Given the description of an element on the screen output the (x, y) to click on. 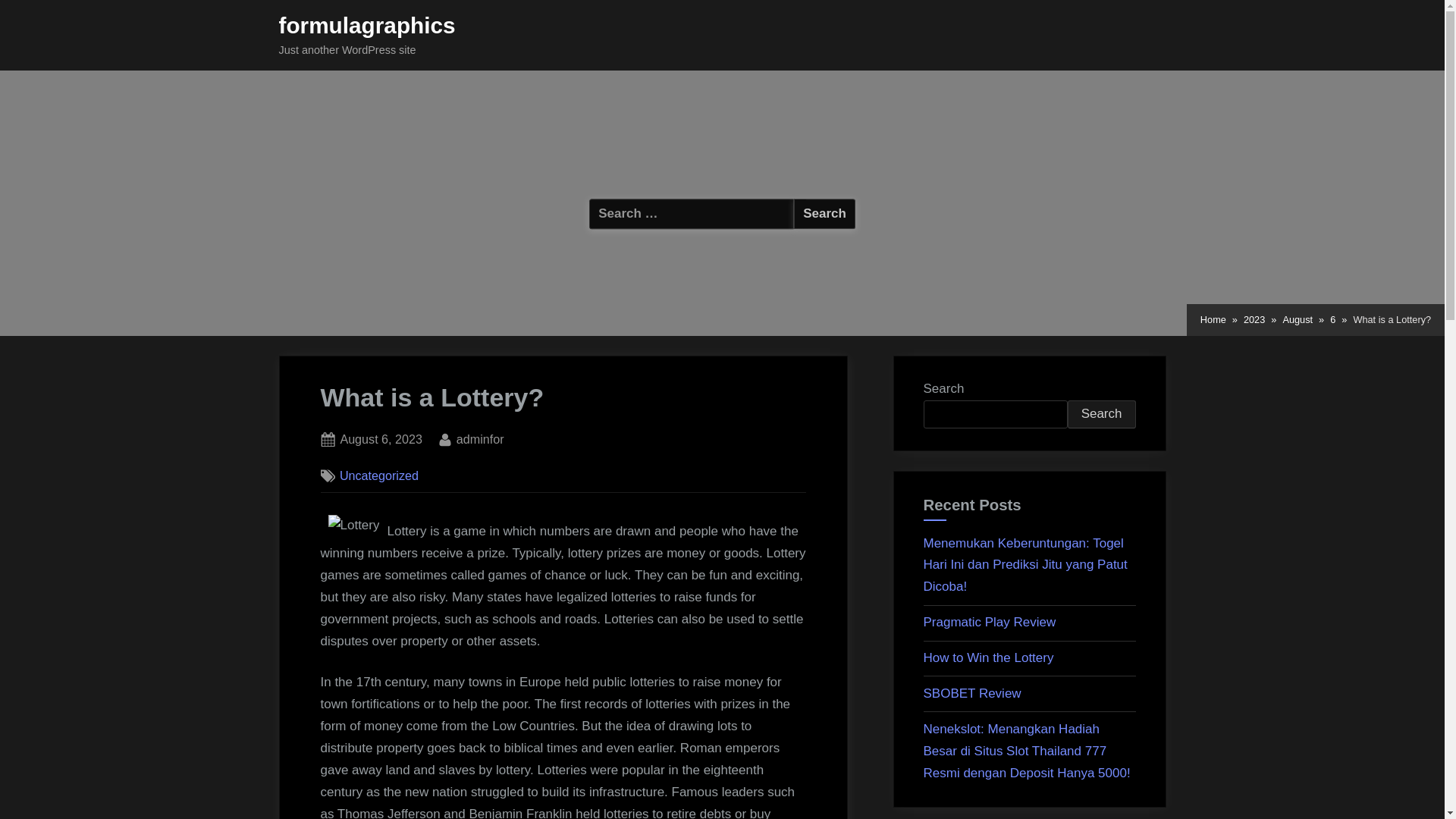
formulagraphics (367, 25)
Search (1101, 414)
Home (1212, 320)
Search (824, 214)
Search (824, 214)
SBOBET Review (380, 439)
Uncategorized (972, 693)
